Given the description of an element on the screen output the (x, y) to click on. 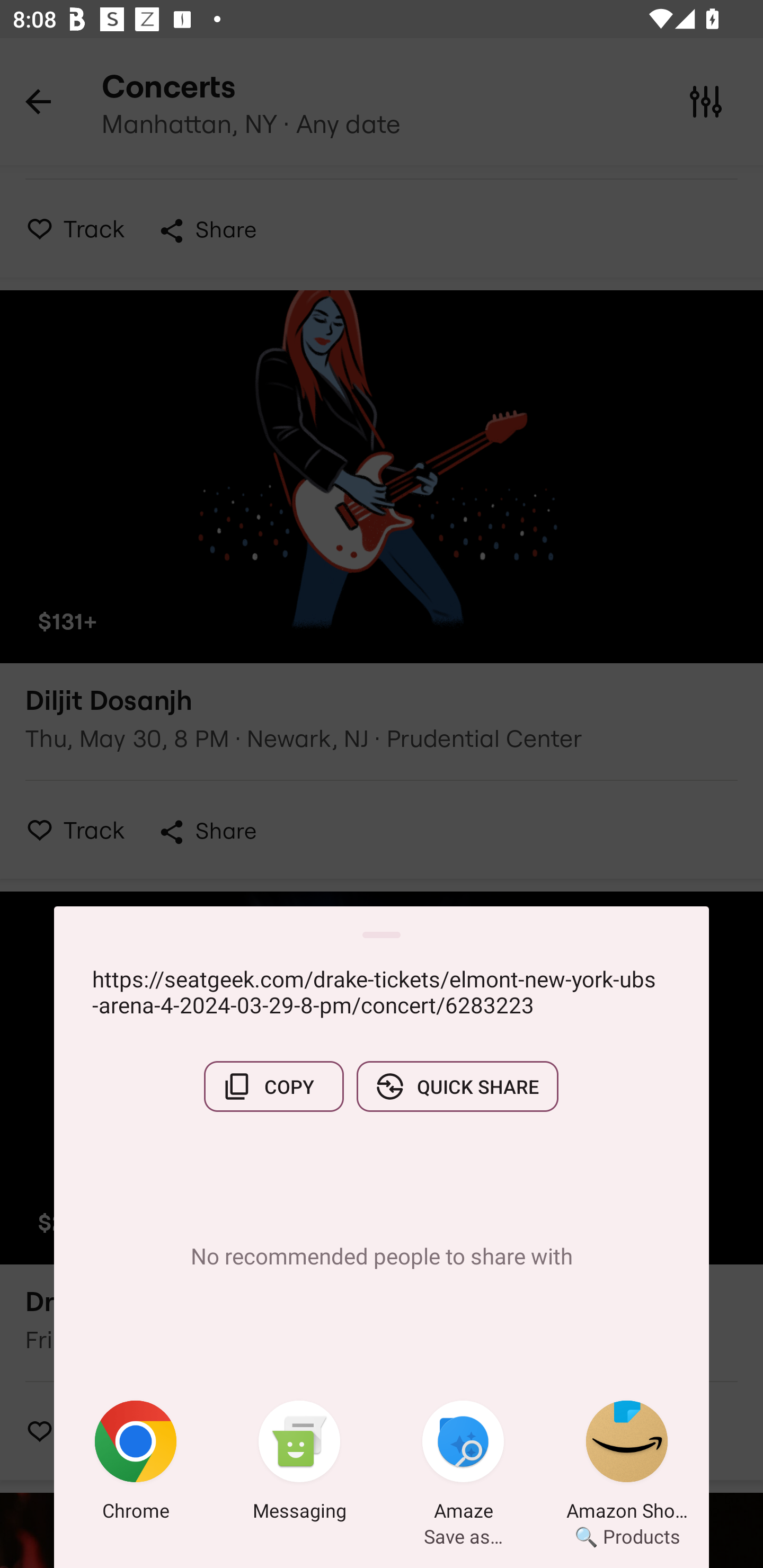
COPY (273, 1086)
QUICK SHARE (457, 1086)
Chrome (135, 1463)
Messaging (299, 1463)
Amaze Save as… (463, 1463)
Amazon Shopping 🔍 Products (626, 1463)
